Given the description of an element on the screen output the (x, y) to click on. 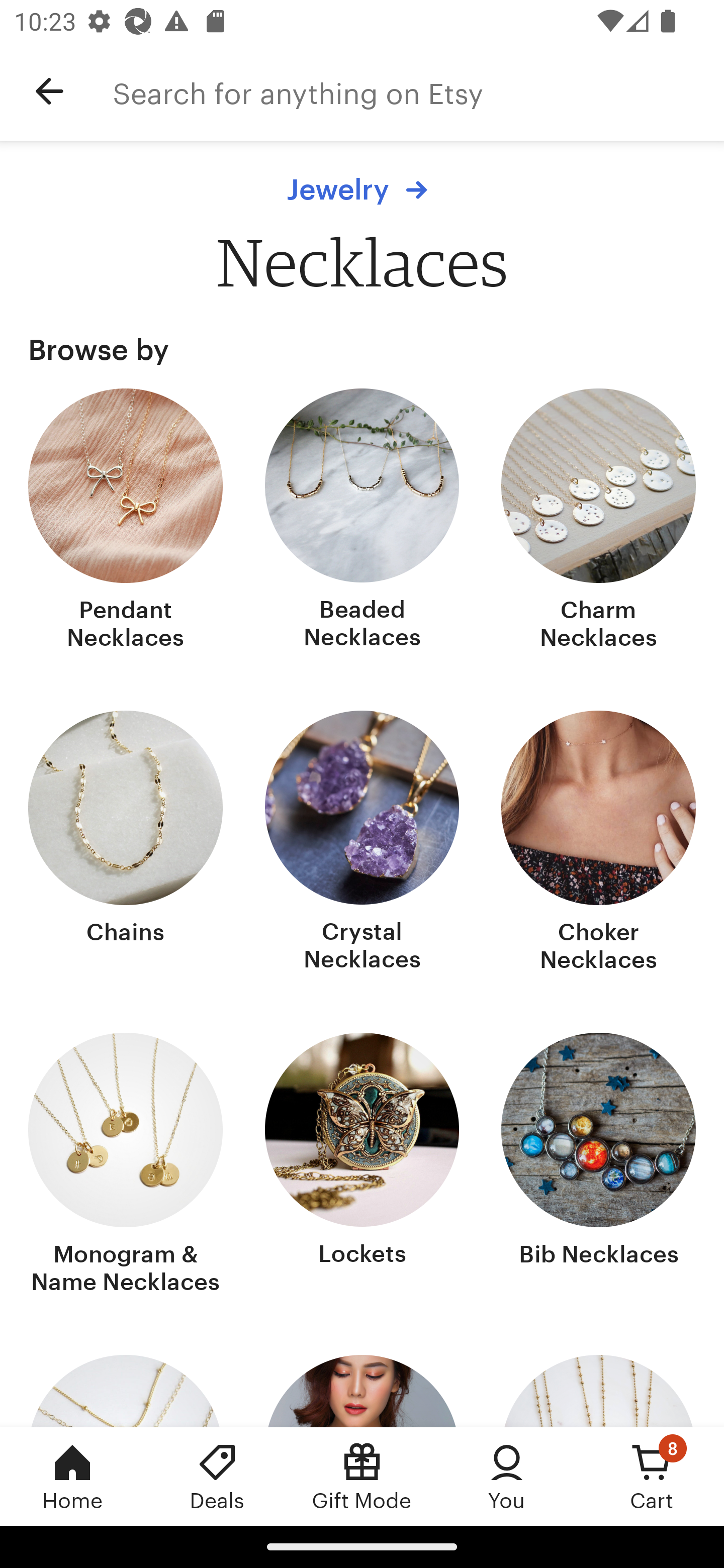
Navigate up (49, 91)
Search for anything on Etsy (418, 91)
Jewelry (361, 189)
Pendant Necklaces (125, 520)
Beaded Necklaces (361, 520)
Charm Necklaces (598, 520)
Chains (125, 843)
Crystal Necklaces (361, 843)
Choker Necklaces (598, 843)
Monogram & Name Necklaces (125, 1165)
Lockets (361, 1165)
Bib Necklaces (598, 1165)
Deals (216, 1475)
Gift Mode (361, 1475)
You (506, 1475)
Cart, 8 new notifications Cart (651, 1475)
